Given the description of an element on the screen output the (x, y) to click on. 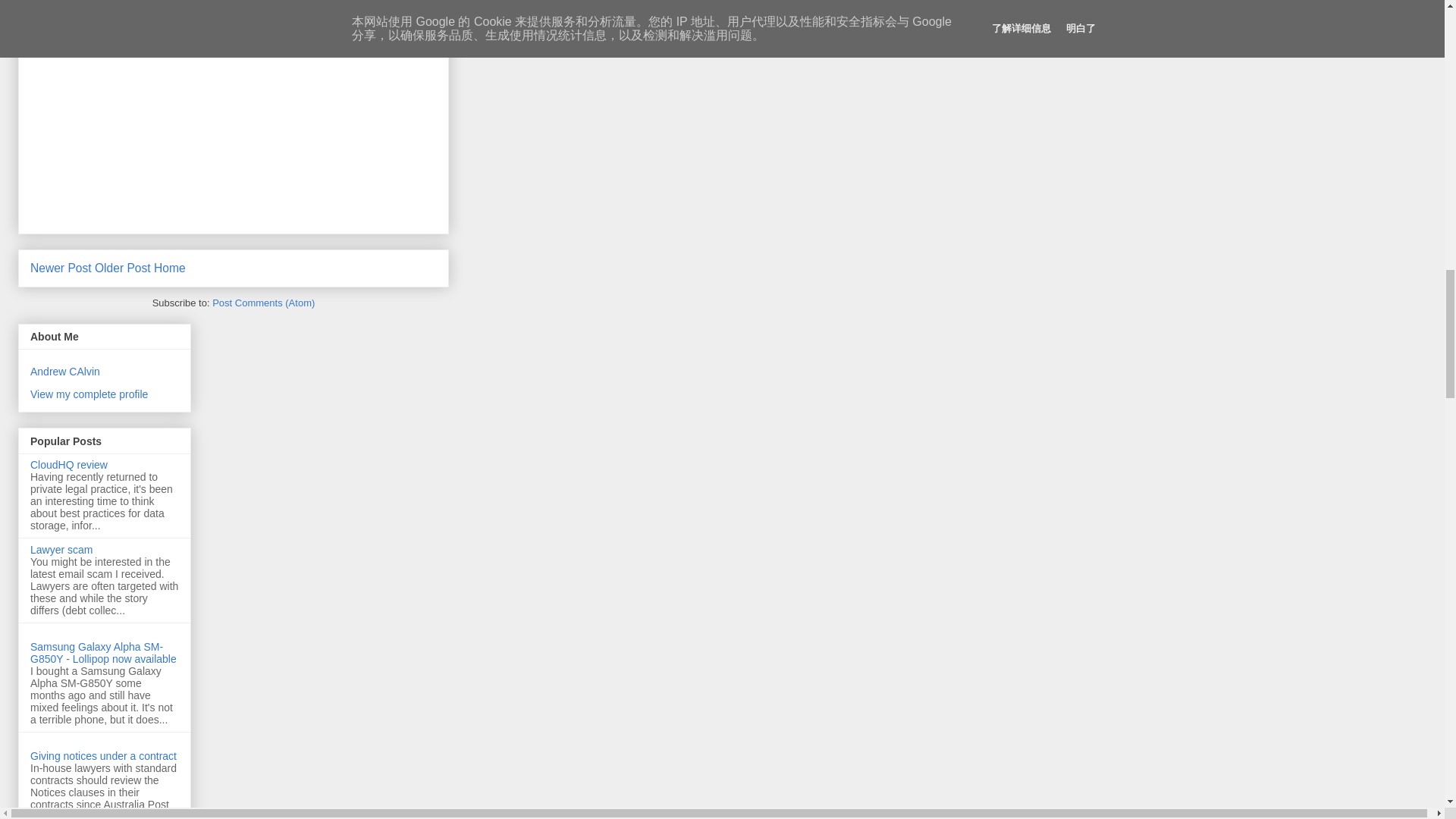
Newer Post (60, 267)
Samsung Galaxy Alpha SM-G850Y - Lollipop now available (103, 652)
Newer Post (60, 267)
Lawyer scam (61, 549)
Older Post (122, 267)
Giving notices under a contract (103, 756)
Andrew CAlvin (65, 371)
View my complete profile (89, 394)
Home (170, 267)
Older Post (122, 267)
CloudHQ review (68, 464)
